Given the description of an element on the screen output the (x, y) to click on. 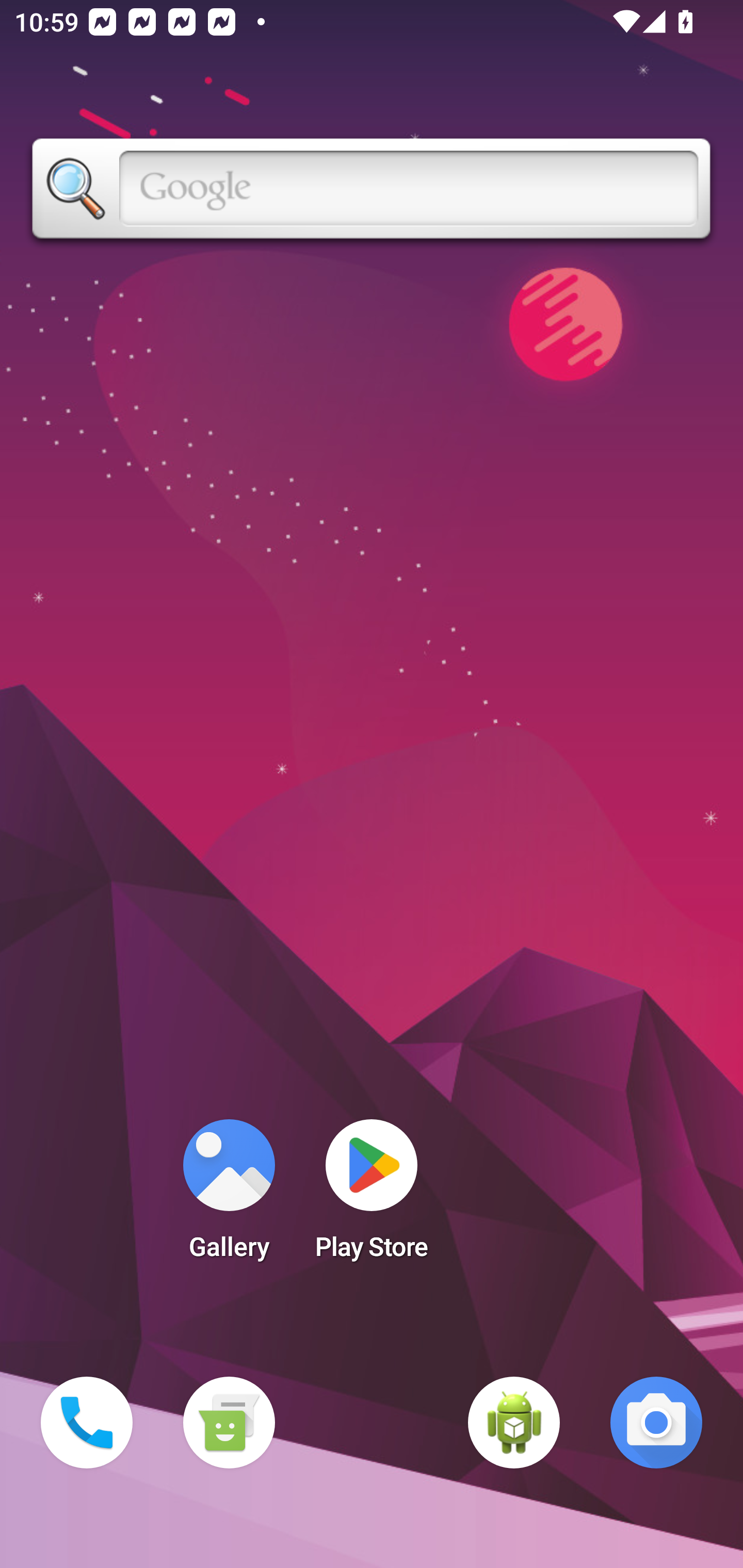
Gallery (228, 1195)
Play Store (371, 1195)
Phone (86, 1422)
Messaging (228, 1422)
WebView Browser Tester (513, 1422)
Camera (656, 1422)
